Given the description of an element on the screen output the (x, y) to click on. 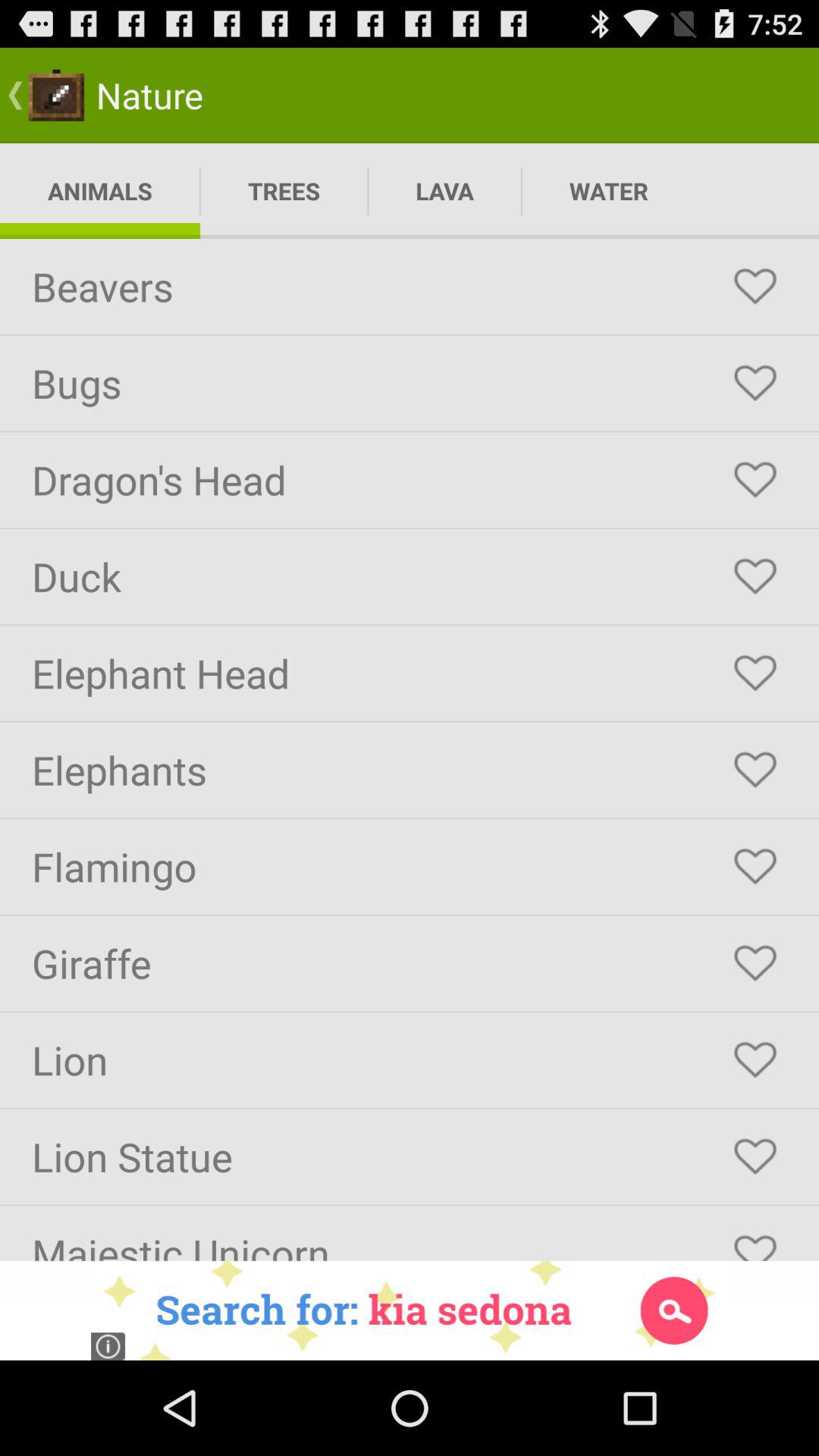
save to favourites (755, 576)
